Given the description of an element on the screen output the (x, y) to click on. 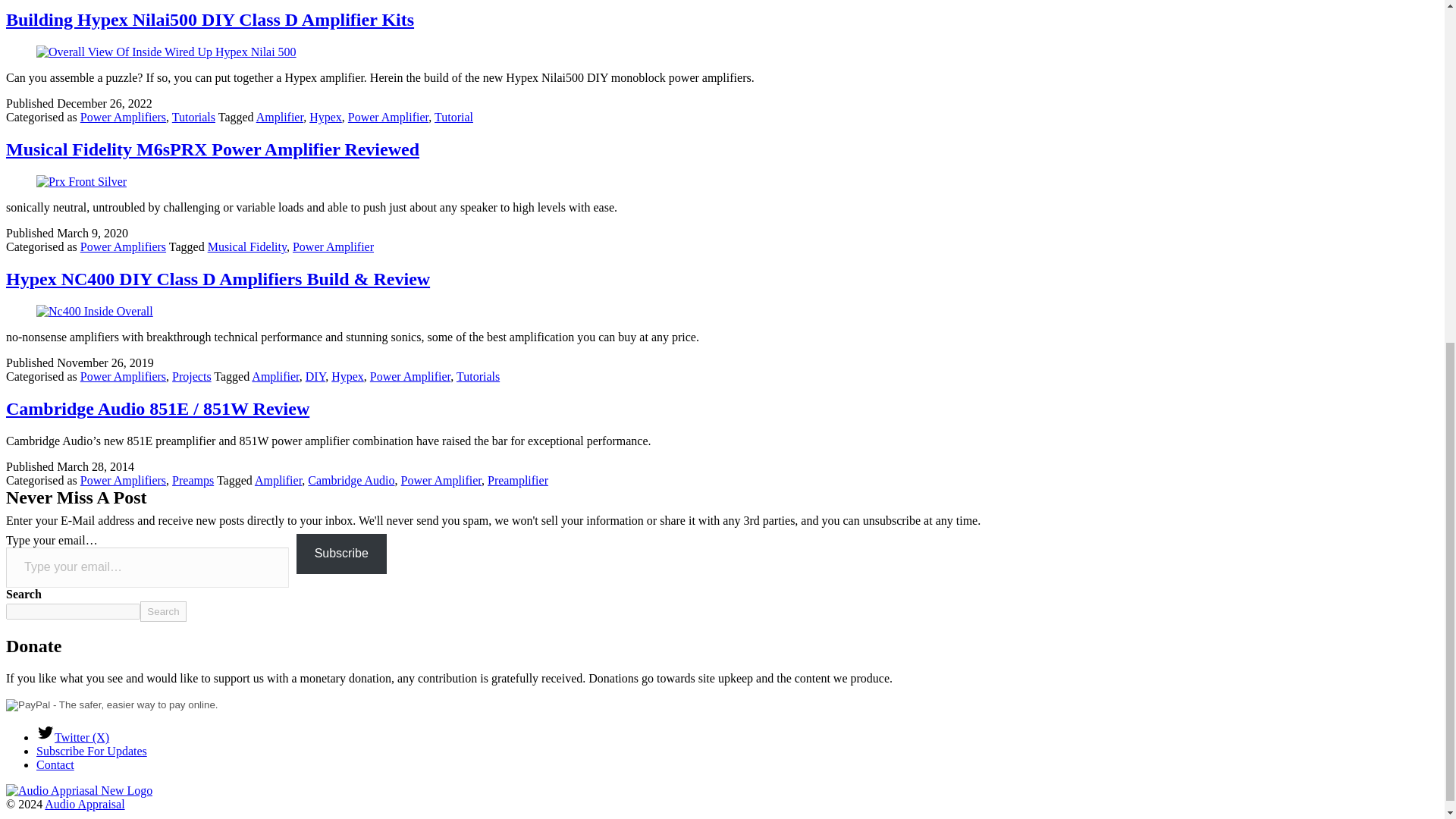
Hypex (325, 116)
Building Hypex Nilai500 DIY Class D Amplifier Kits (209, 19)
Tutorials (193, 116)
Power Amplifier (387, 116)
Power Amplifiers (122, 116)
Tutorial (453, 116)
Amplifier (279, 116)
